Given the description of an element on the screen output the (x, y) to click on. 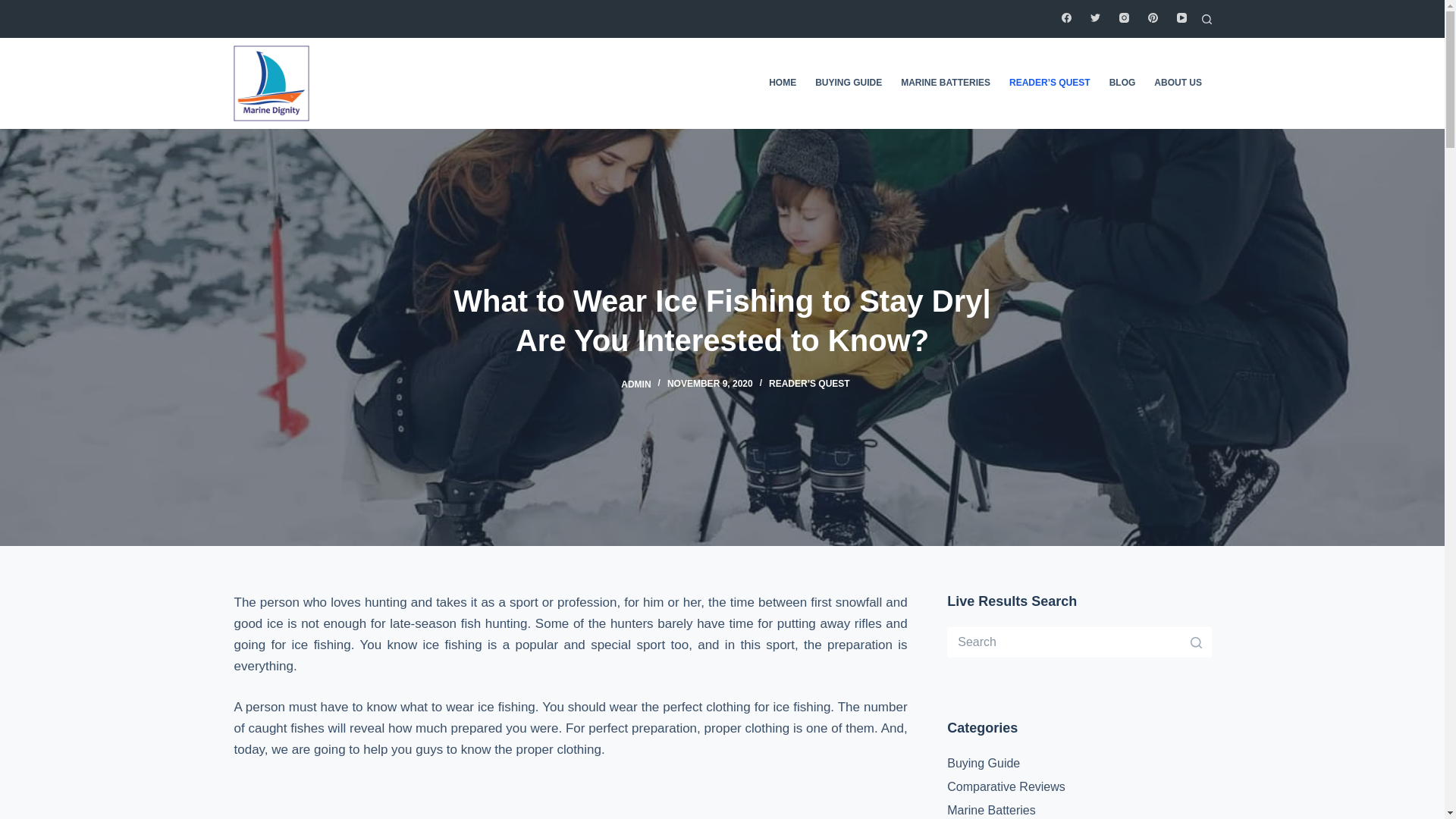
Posts by admin (635, 383)
ADMIN (635, 383)
Comparative Reviews (1006, 786)
Search Input (1079, 642)
Buying Guide (983, 762)
MARINE BATTERIES (945, 82)
Marine Batteries (991, 809)
Skip to content (15, 7)
BUYING GUIDE (848, 82)
